Given the description of an element on the screen output the (x, y) to click on. 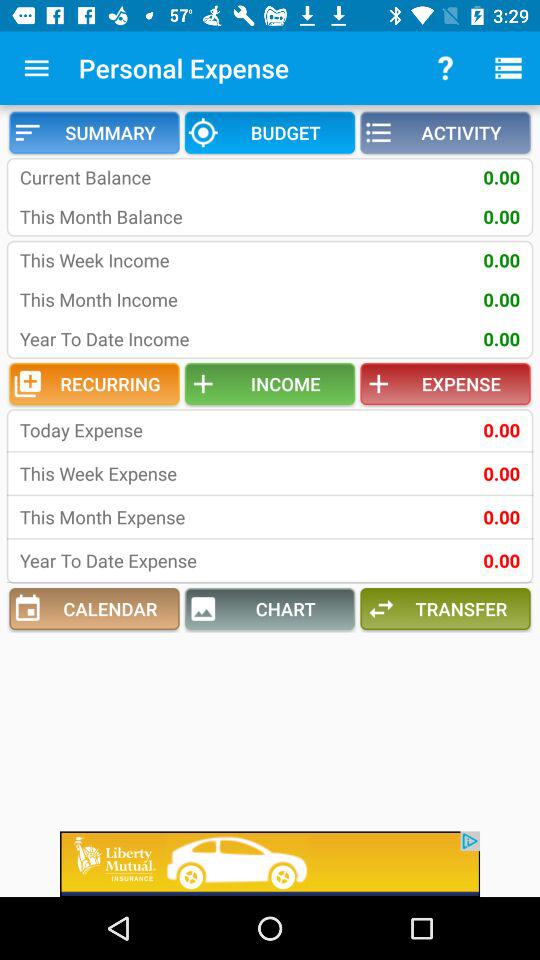
tap icon above today expense item (94, 384)
